Given the description of an element on the screen output the (x, y) to click on. 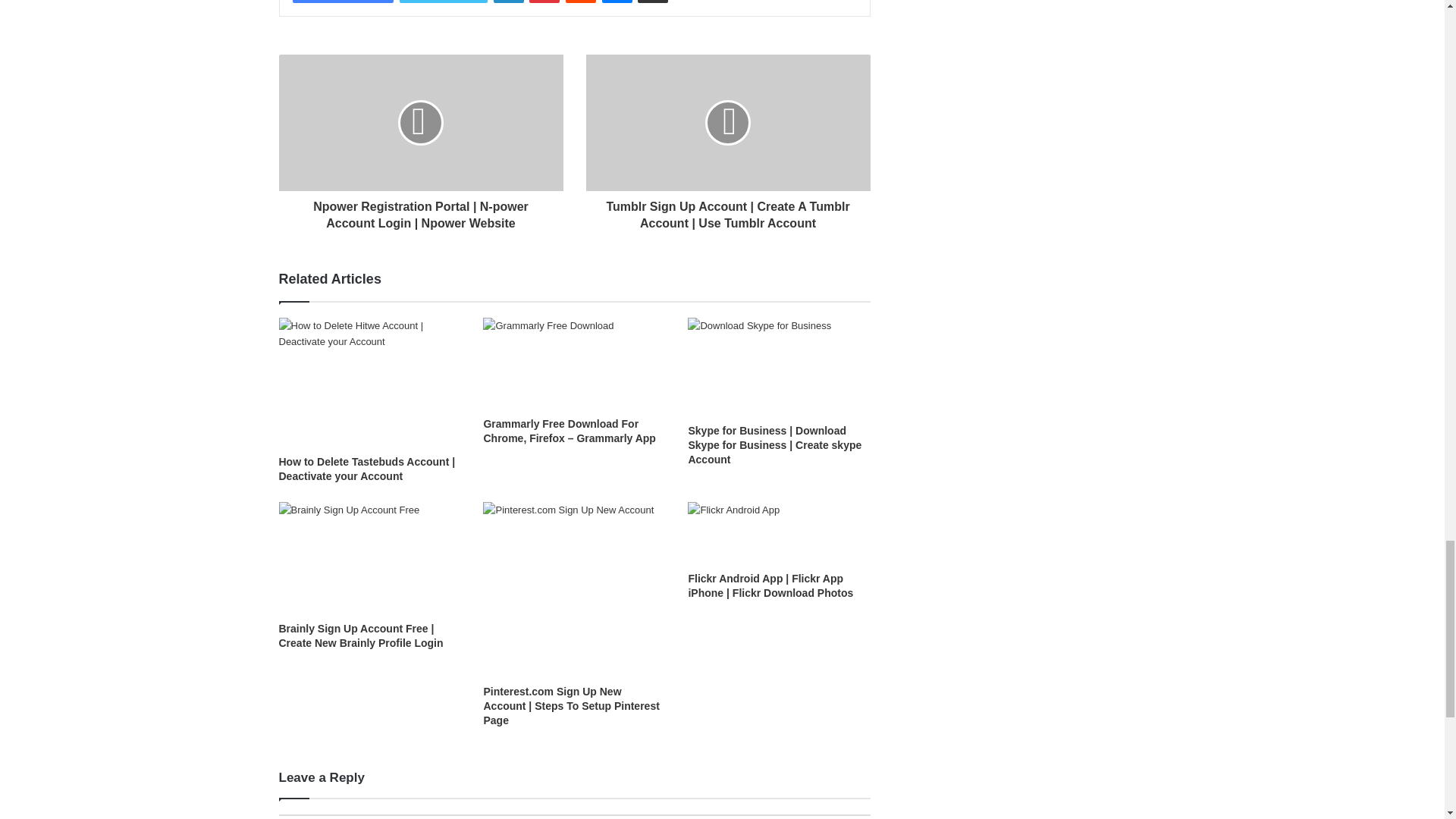
Reddit (580, 1)
Reddit (580, 1)
LinkedIn (508, 1)
Pinterest (544, 1)
LinkedIn (508, 1)
Messenger (616, 1)
Twitter (442, 1)
Facebook (343, 1)
Messenger (616, 1)
